Given the description of an element on the screen output the (x, y) to click on. 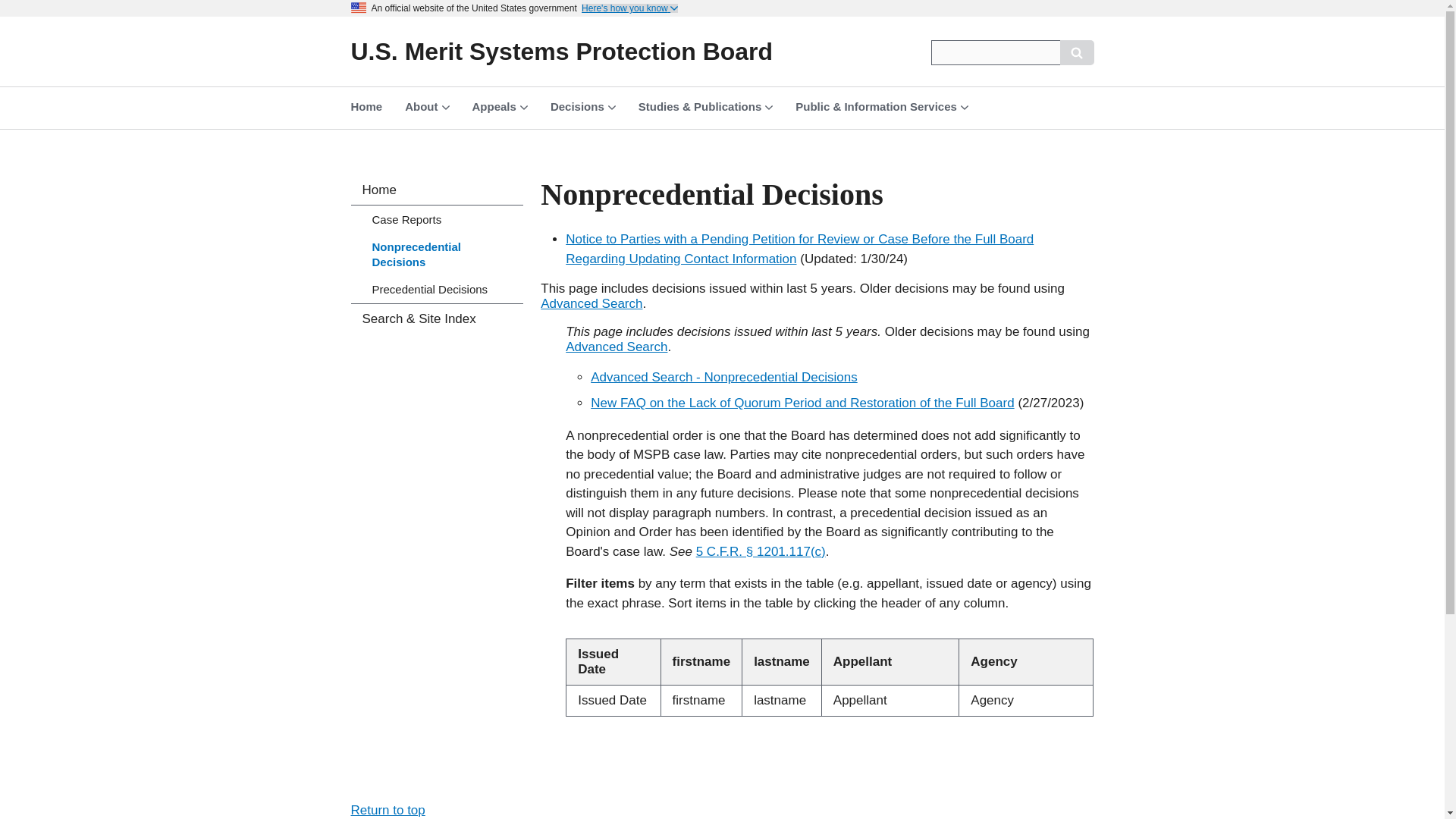
Decisions (582, 106)
Appeals (499, 106)
Search Nonprecedential Decisions (724, 377)
About (426, 106)
Advanced Search (591, 303)
U.S. Merit Systems Protection Board (561, 51)
Home (366, 109)
Search Decisions (616, 346)
Here's how you know (629, 8)
Home (561, 51)
